Given the description of an element on the screen output the (x, y) to click on. 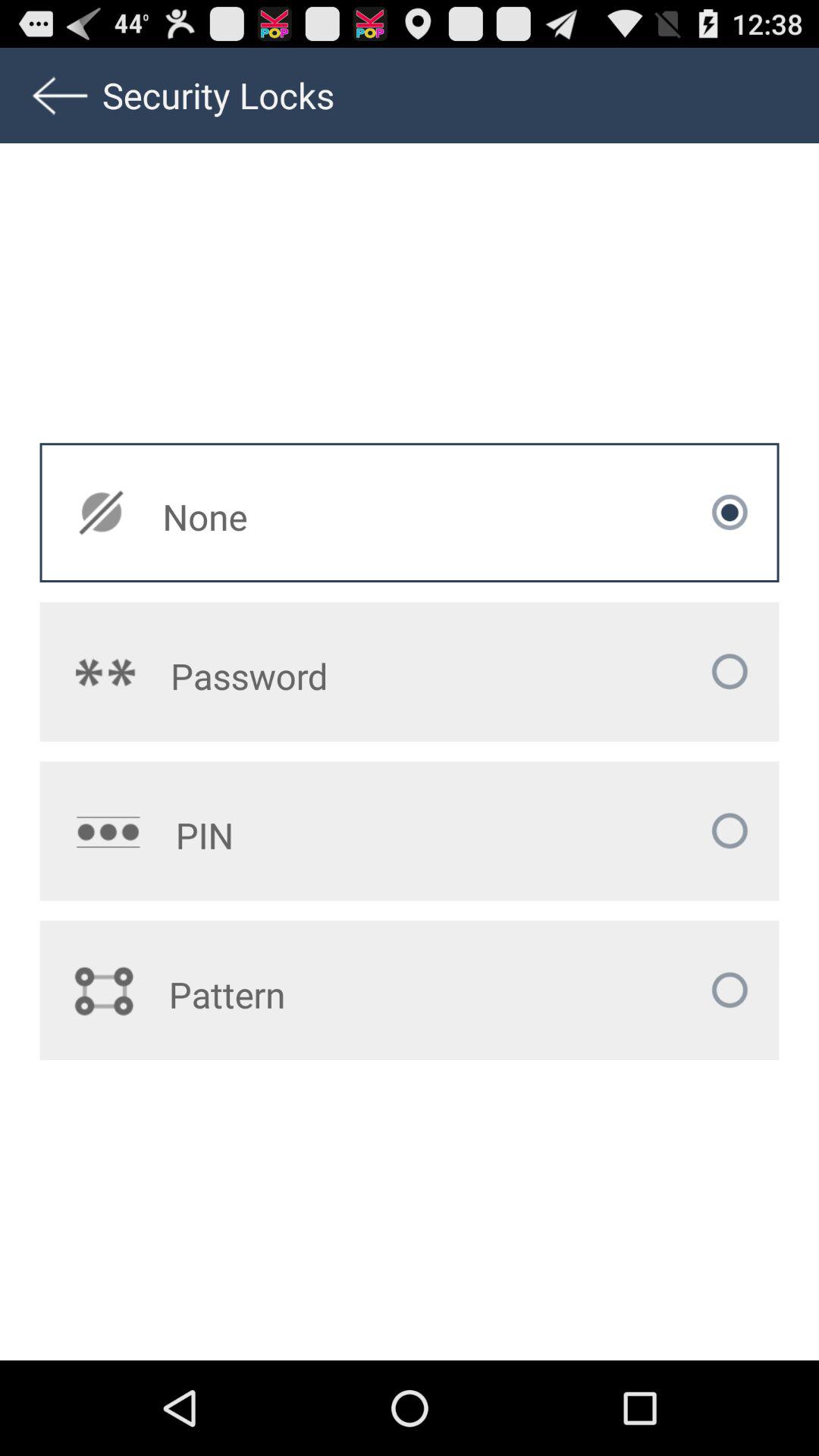
open pattern (317, 994)
